Given the description of an element on the screen output the (x, y) to click on. 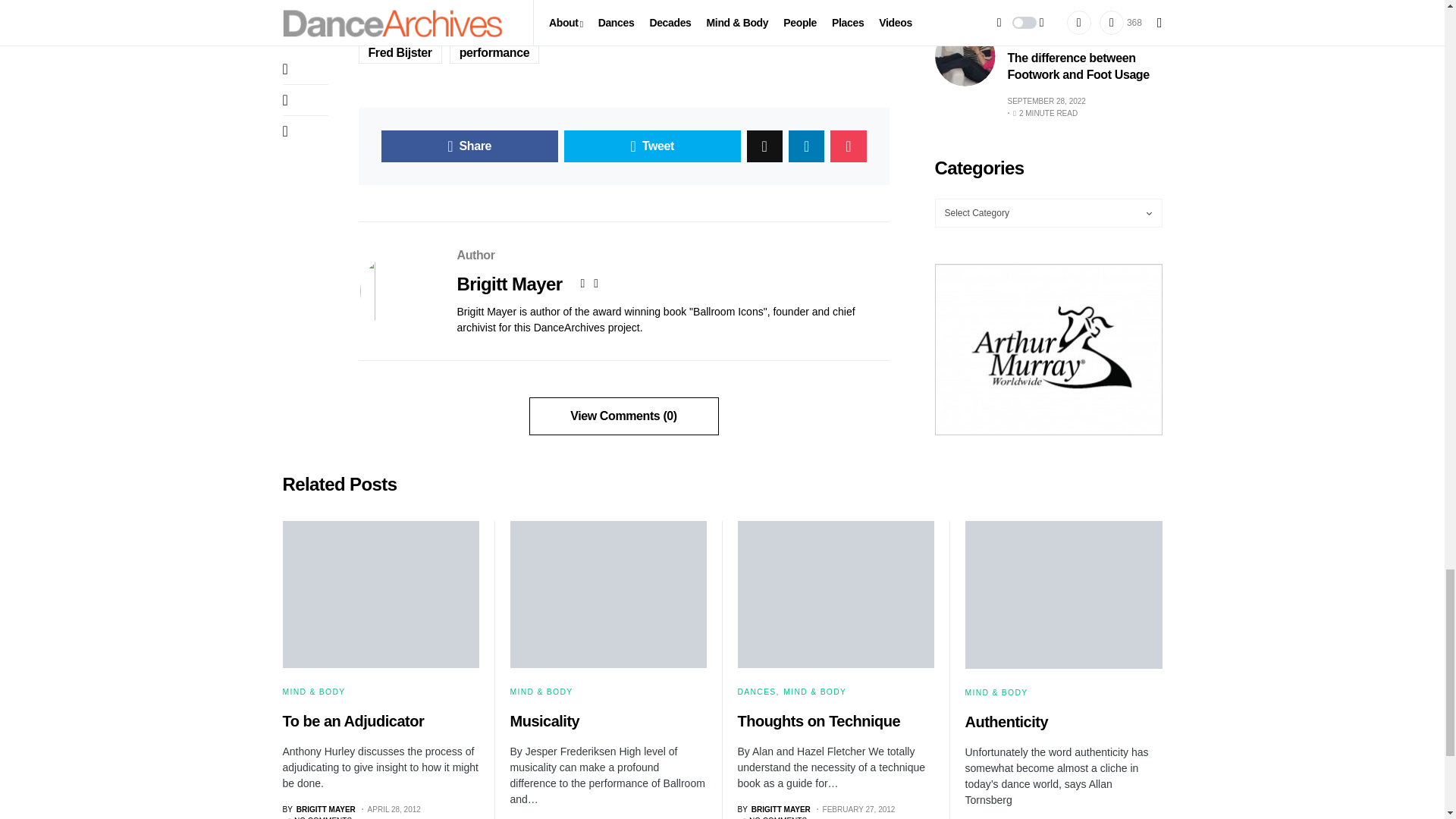
View all posts by Brigitt Mayer (318, 808)
View all posts by Brigitt Mayer (772, 808)
